Given the description of an element on the screen output the (x, y) to click on. 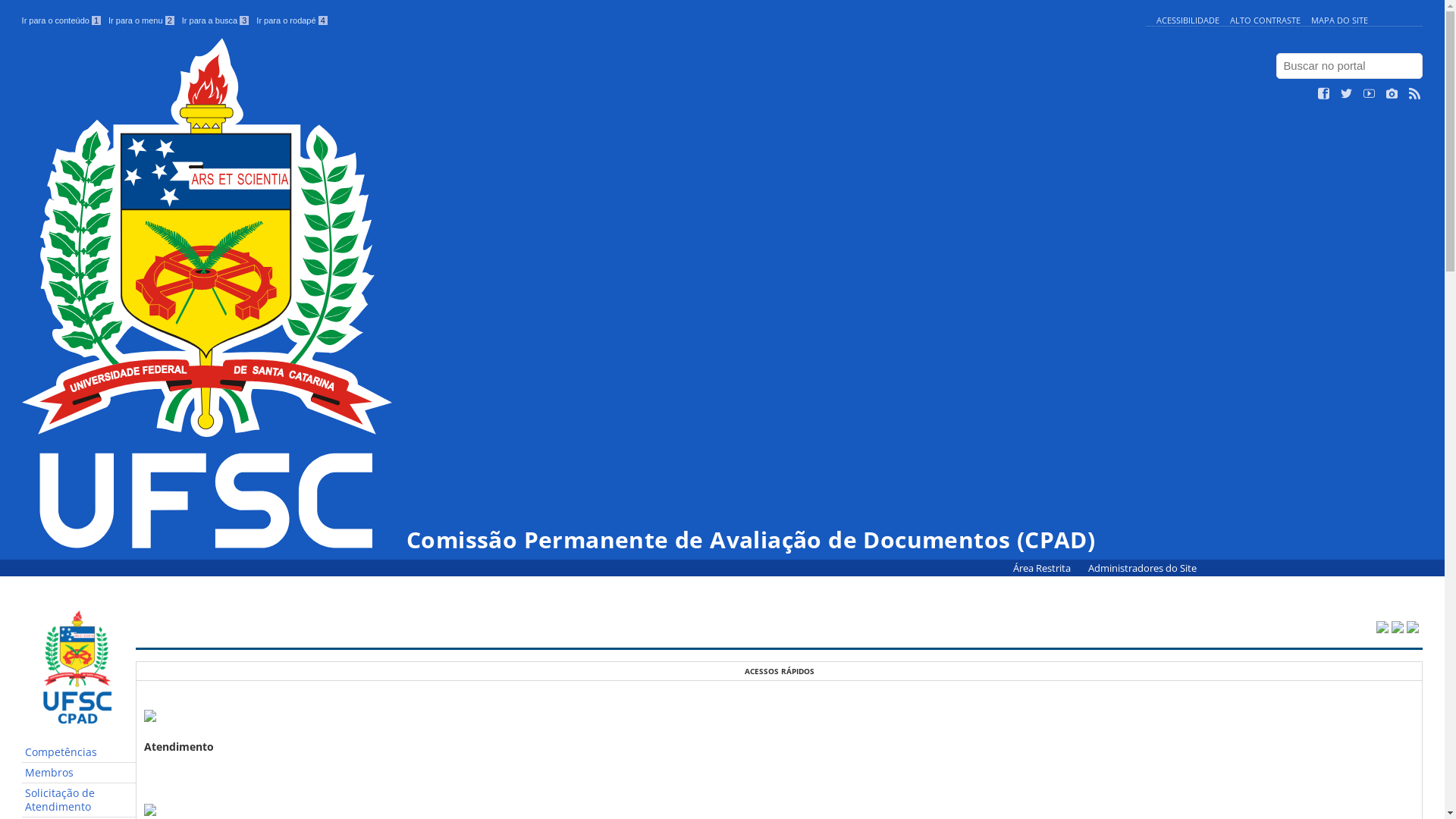
Administradores do Site Element type: text (1141, 567)
Veja no Instagram Element type: hover (1392, 93)
Membros Element type: text (78, 772)
ACESSIBILIDADE Element type: text (1187, 19)
ALTO CONTRASTE Element type: text (1265, 19)
Compartilhar no Facebook Element type: hover (1397, 627)
MAPA DO SITE Element type: text (1339, 19)
Ir para o menu 2 Element type: text (141, 20)
Siga no Twitter Element type: hover (1346, 93)
Compartilhar no WhatsApp Element type: hover (1412, 627)
Compartilhar no Twitter Element type: hover (1382, 627)
Ir para a busca 3 Element type: text (215, 20)
Curta no Facebook Element type: hover (1323, 93)
